Given the description of an element on the screen output the (x, y) to click on. 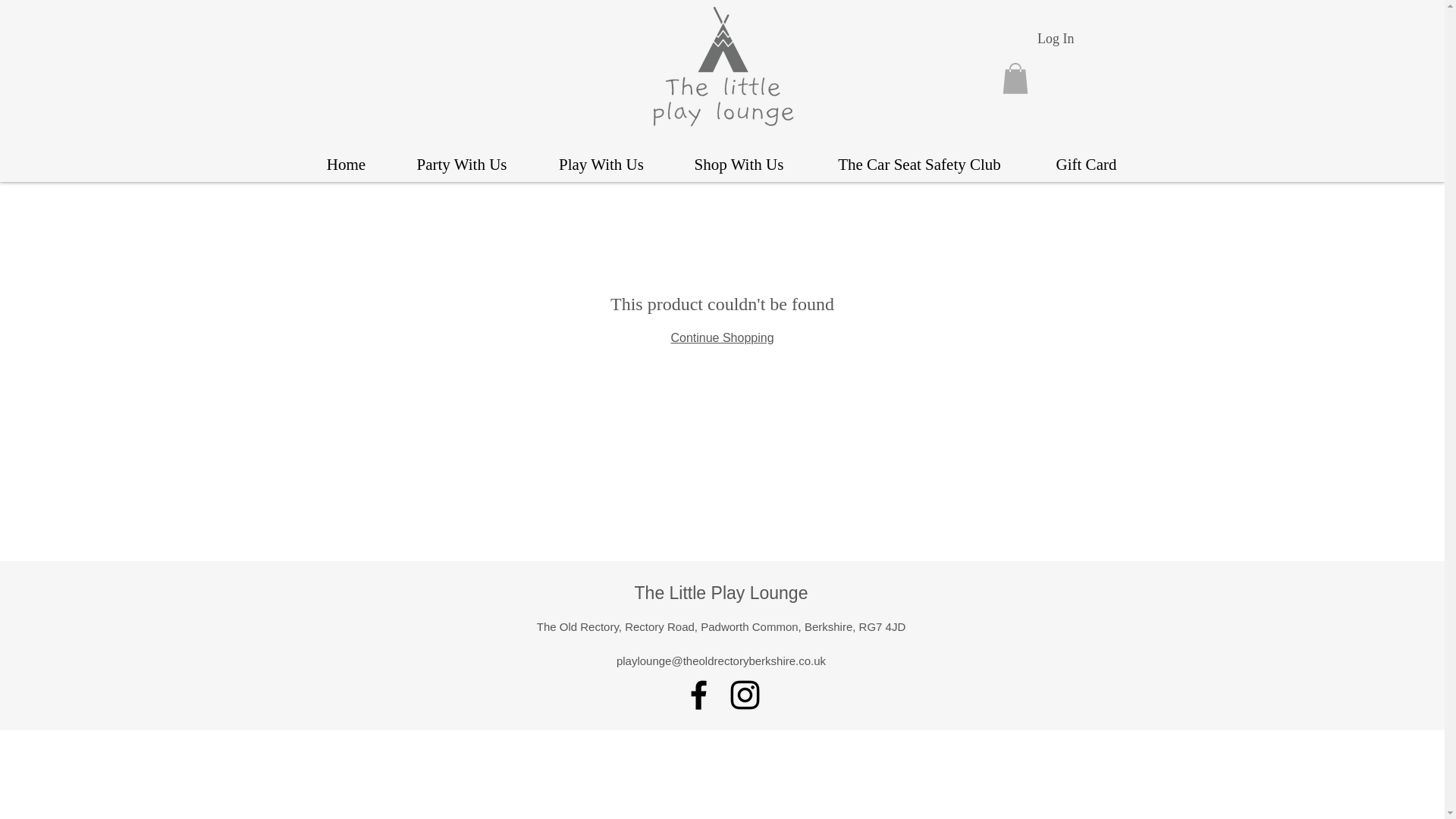
The Car Seat Safety Club (918, 164)
Play With Us (601, 164)
Continue Shopping (721, 337)
Party With Us (461, 164)
Shop With Us (738, 164)
Home (345, 164)
Gift Card (1085, 164)
Log In (1055, 39)
